Given the description of an element on the screen output the (x, y) to click on. 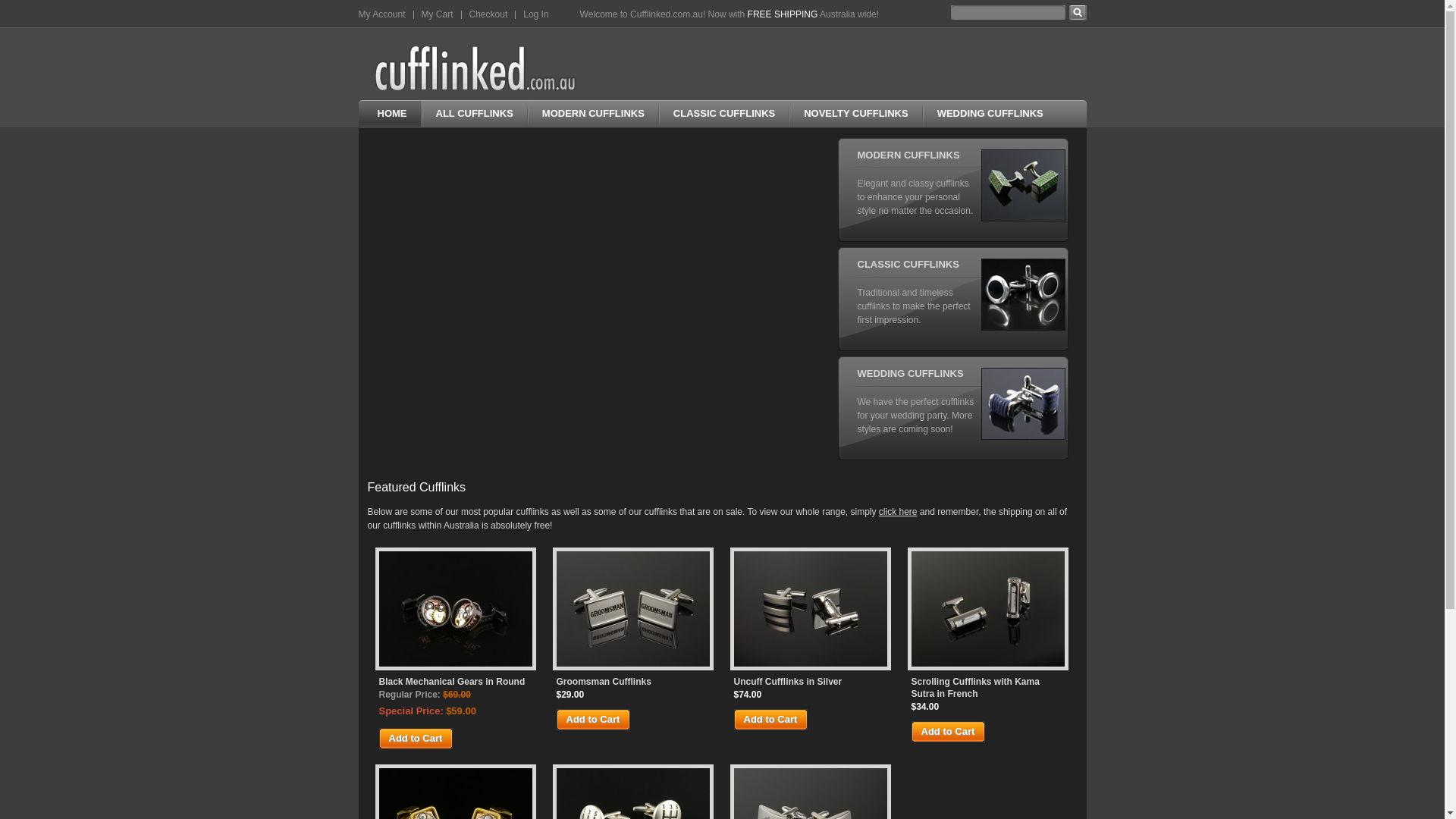
Search Element type: hover (1077, 12)
click here Element type: text (897, 511)
Add to Cart Element type: text (593, 719)
Add to Cart Element type: text (948, 731)
My Cart Element type: text (437, 14)
Scrolling Cufflinks with Kama Sutra in French  Element type: hover (986, 609)
Log In Element type: text (535, 14)
Add to Cart Element type: text (416, 738)
WEDDING CUFFLINKS Element type: text (909, 373)
MODERN CUFFLINKS Element type: text (592, 113)
Uncuff Cufflinks in Silver Element type: hover (809, 609)
Scrolling Cufflinks with Kama Sutra in French Element type: text (987, 687)
Black Mechanical Gears in Round Element type: hover (454, 609)
WEDDING CUFFLINKS Element type: text (989, 113)
My Account Element type: text (380, 14)
Groomsman Cufflinks Element type: text (632, 681)
CLASSIC CUFFLINKS Element type: text (723, 113)
CLASSIC CUFFLINKS Element type: text (907, 263)
ALL CUFFLINKS Element type: text (473, 113)
Cufflinked.com.au Element type: hover (477, 68)
Checkout Element type: text (488, 14)
HOME Element type: text (388, 113)
Add to Cart Element type: text (771, 719)
Uncuff Cufflinks in Silver Element type: text (810, 681)
Groomsman Cufflinks Element type: hover (632, 609)
NOVELTY CUFFLINKS Element type: text (854, 113)
Black Mechanical Gears in Round Element type: text (455, 681)
MODERN CUFFLINKS Element type: text (907, 154)
